Given the description of an element on the screen output the (x, y) to click on. 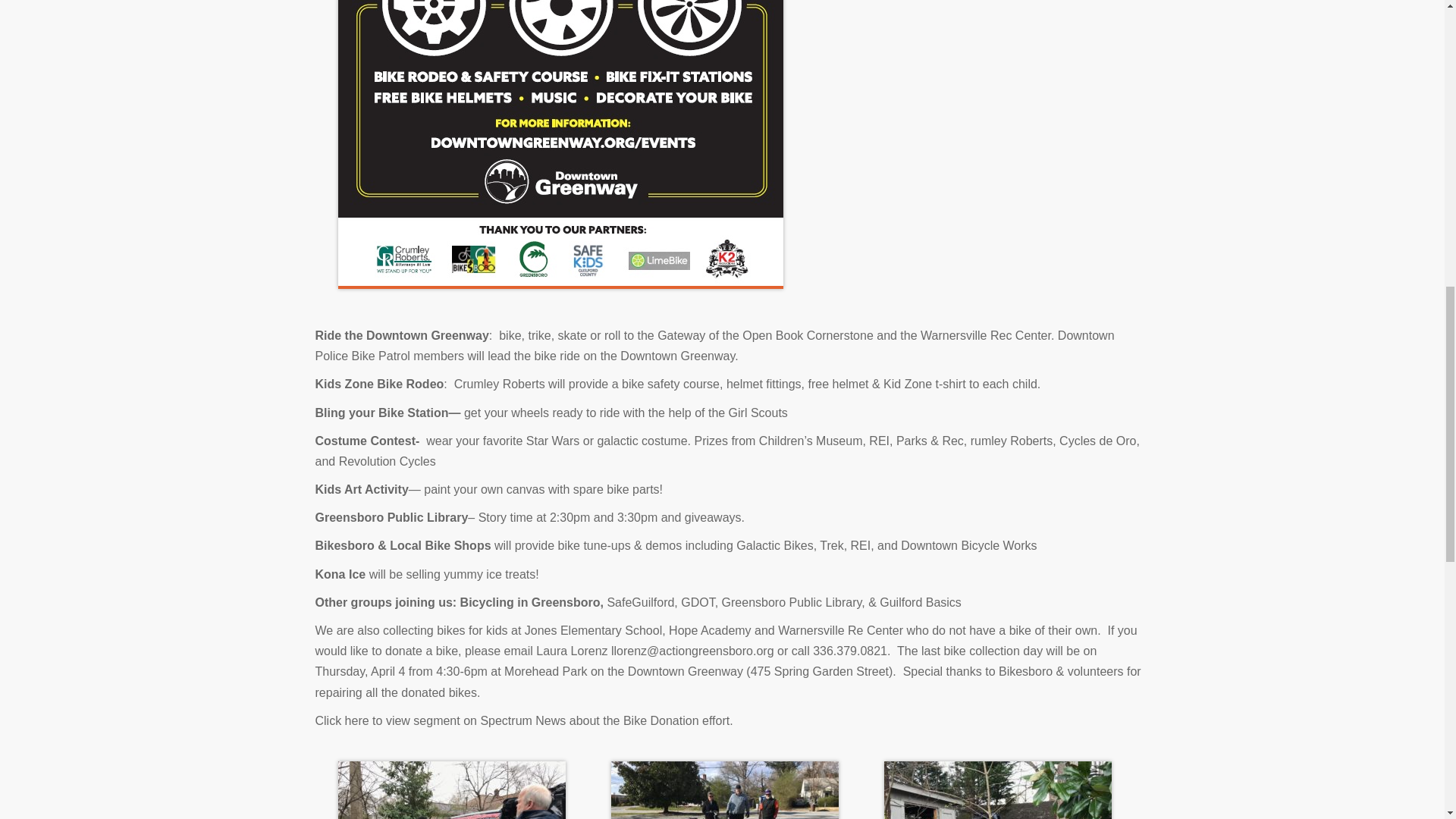
Crumley Roberts (499, 383)
Click here (342, 720)
